Given the description of an element on the screen output the (x, y) to click on. 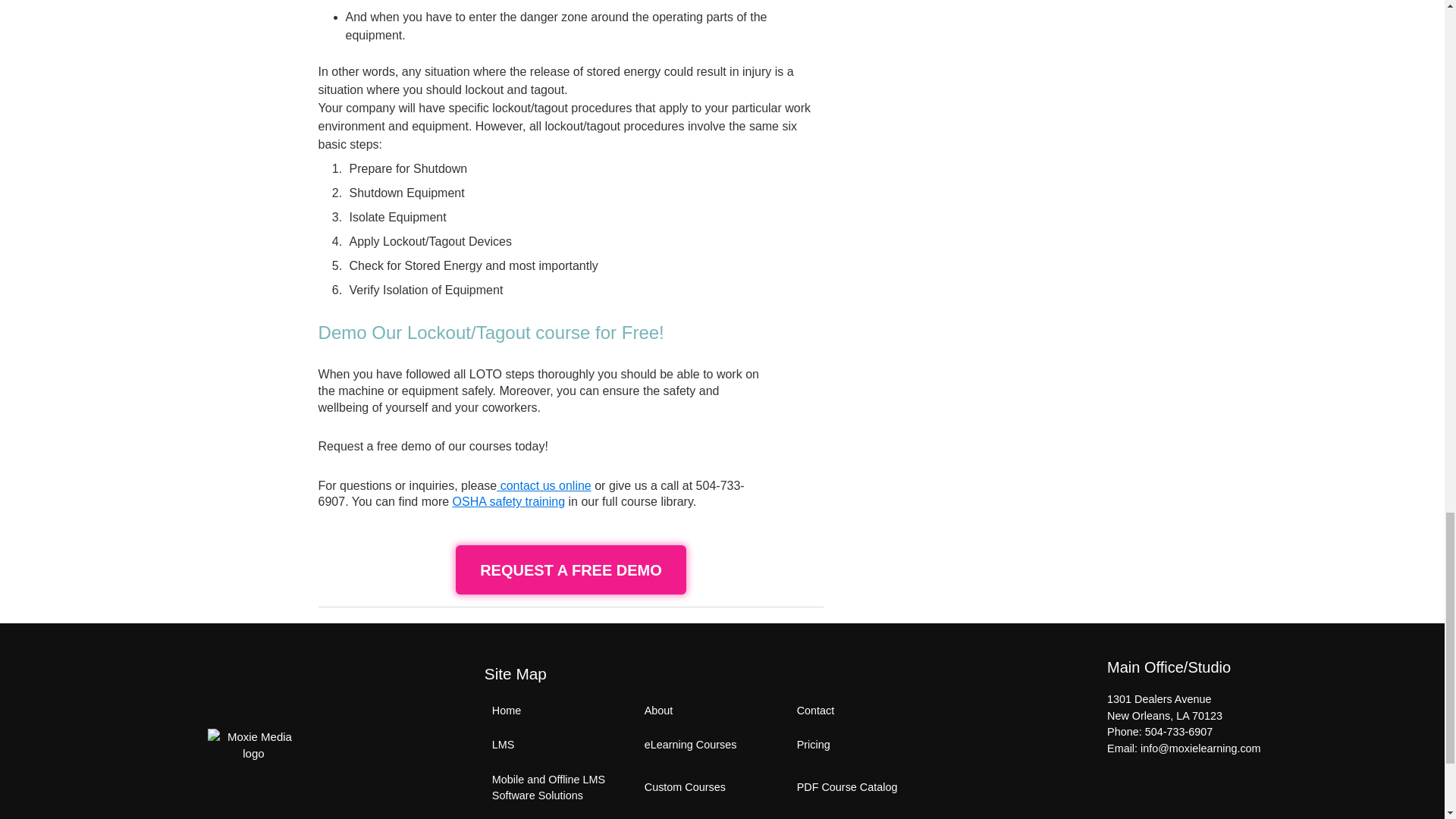
OSHA safety training (509, 501)
REQUEST A FREE DEMO (570, 569)
contact us online (543, 485)
